Given the description of an element on the screen output the (x, y) to click on. 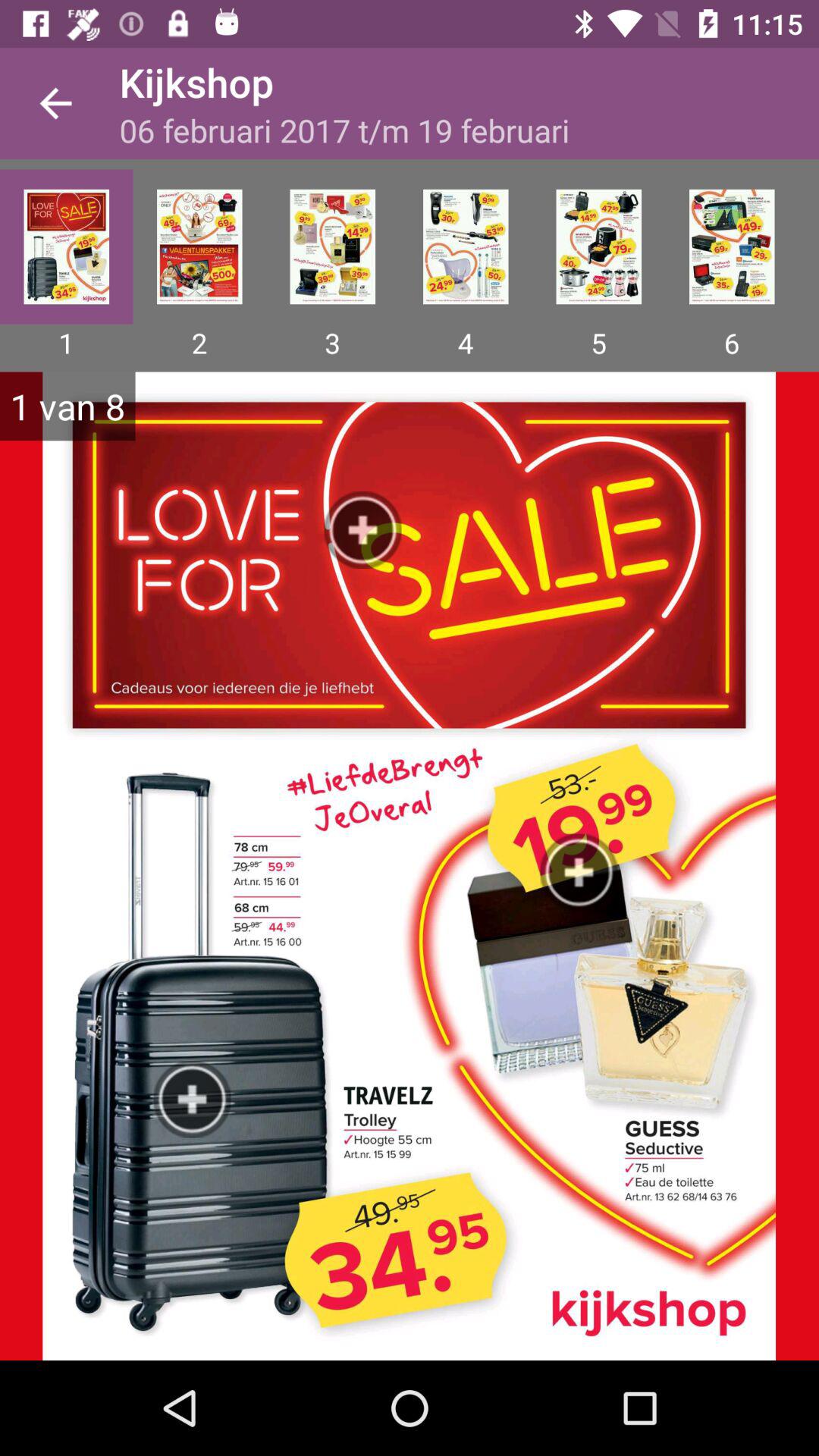
select the item above the 3 icon (332, 246)
